Given the description of an element on the screen output the (x, y) to click on. 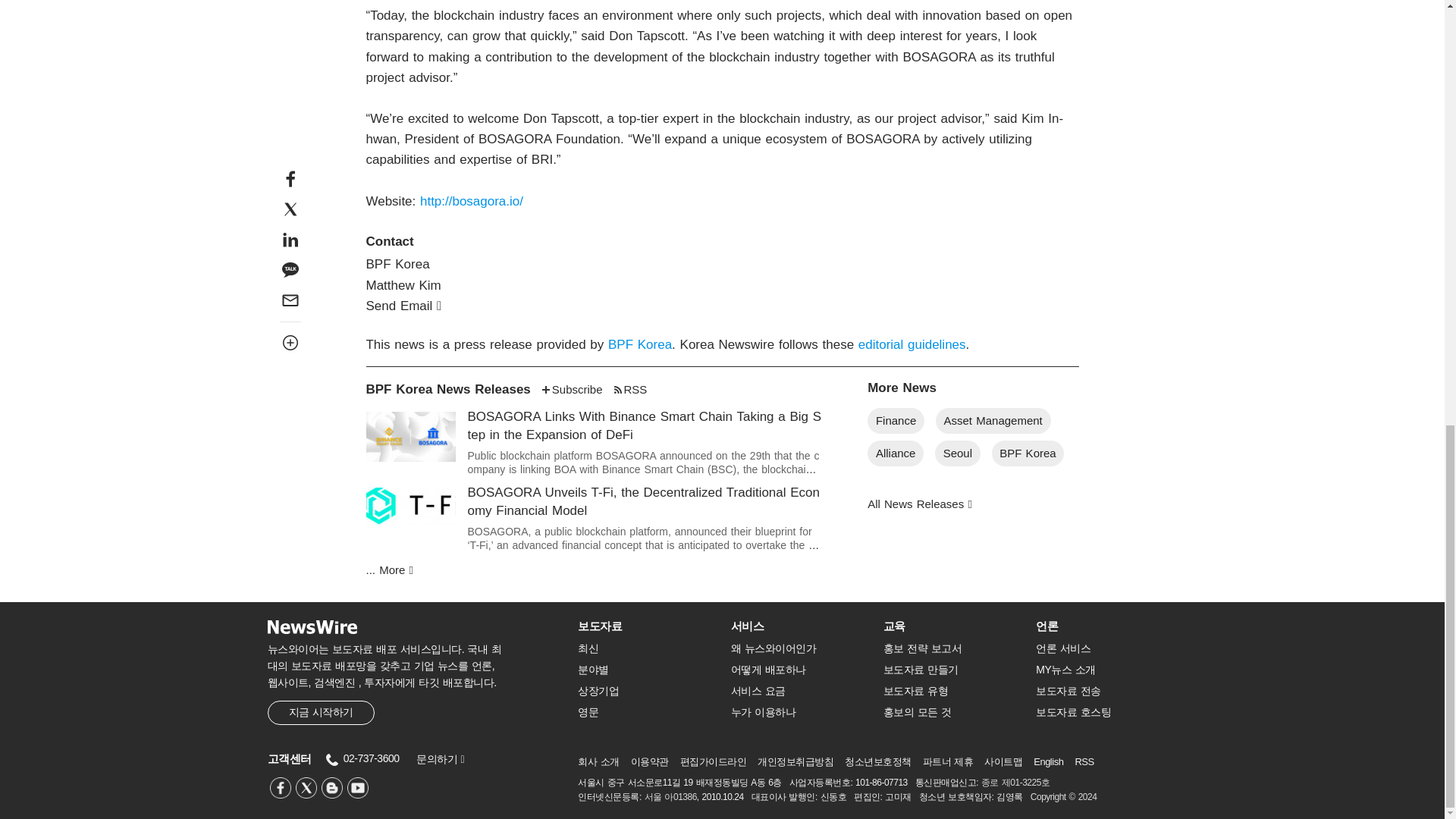
T-Fi logo (409, 505)
